Given the description of an element on the screen output the (x, y) to click on. 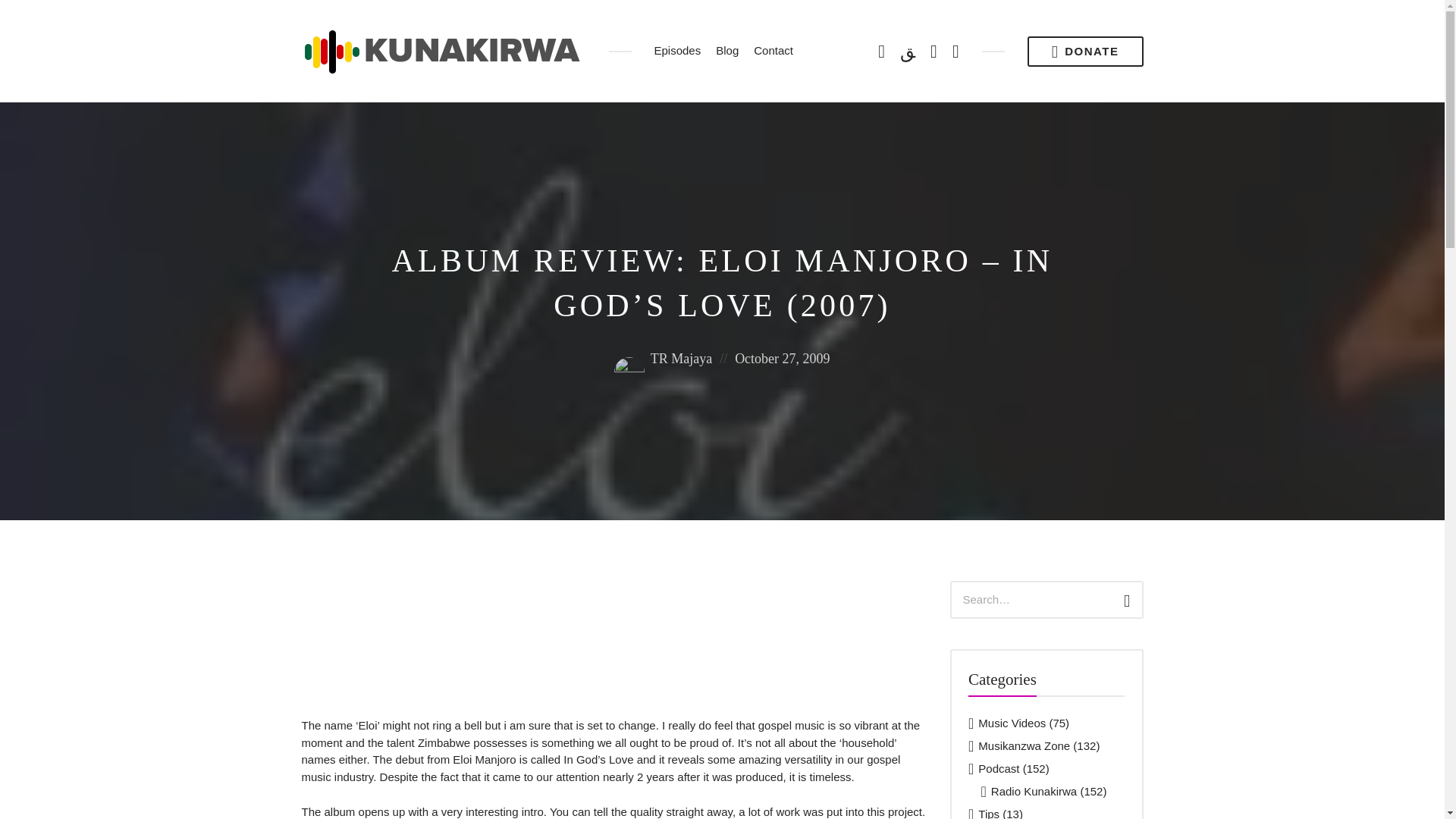
DONATE (1084, 51)
Podcast (998, 768)
Tips (988, 813)
Musikanzwa Zone (1024, 745)
YouTube Channel (955, 50)
Blog (726, 51)
Facebook Profile (933, 50)
Apple Podcasts (881, 50)
TR Majaya (662, 358)
Google Play (907, 50)
